Given the description of an element on the screen output the (x, y) to click on. 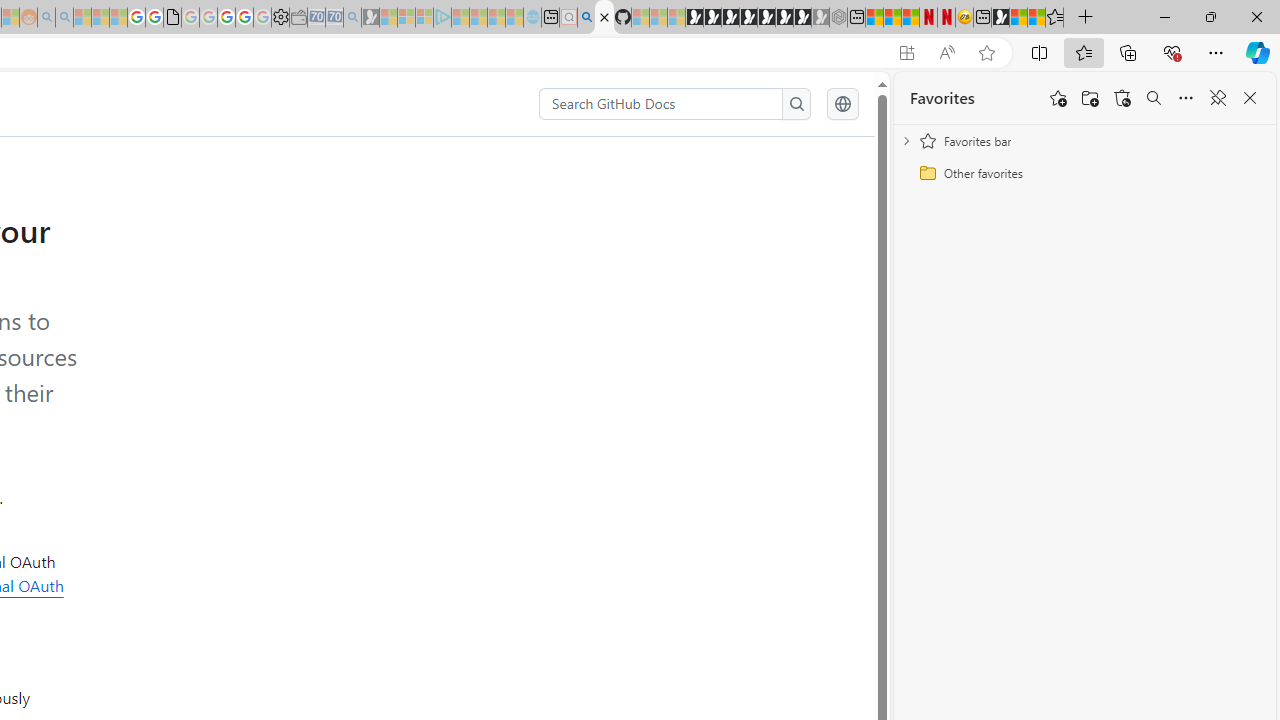
github - Search (586, 17)
Settings and more (Alt+F) (1215, 52)
Microsoft Start Gaming - Sleeping (370, 17)
Search GitHub Docs (661, 103)
New Tab (1085, 17)
Wildlife - MSN (1017, 17)
